Given the description of an element on the screen output the (x, y) to click on. 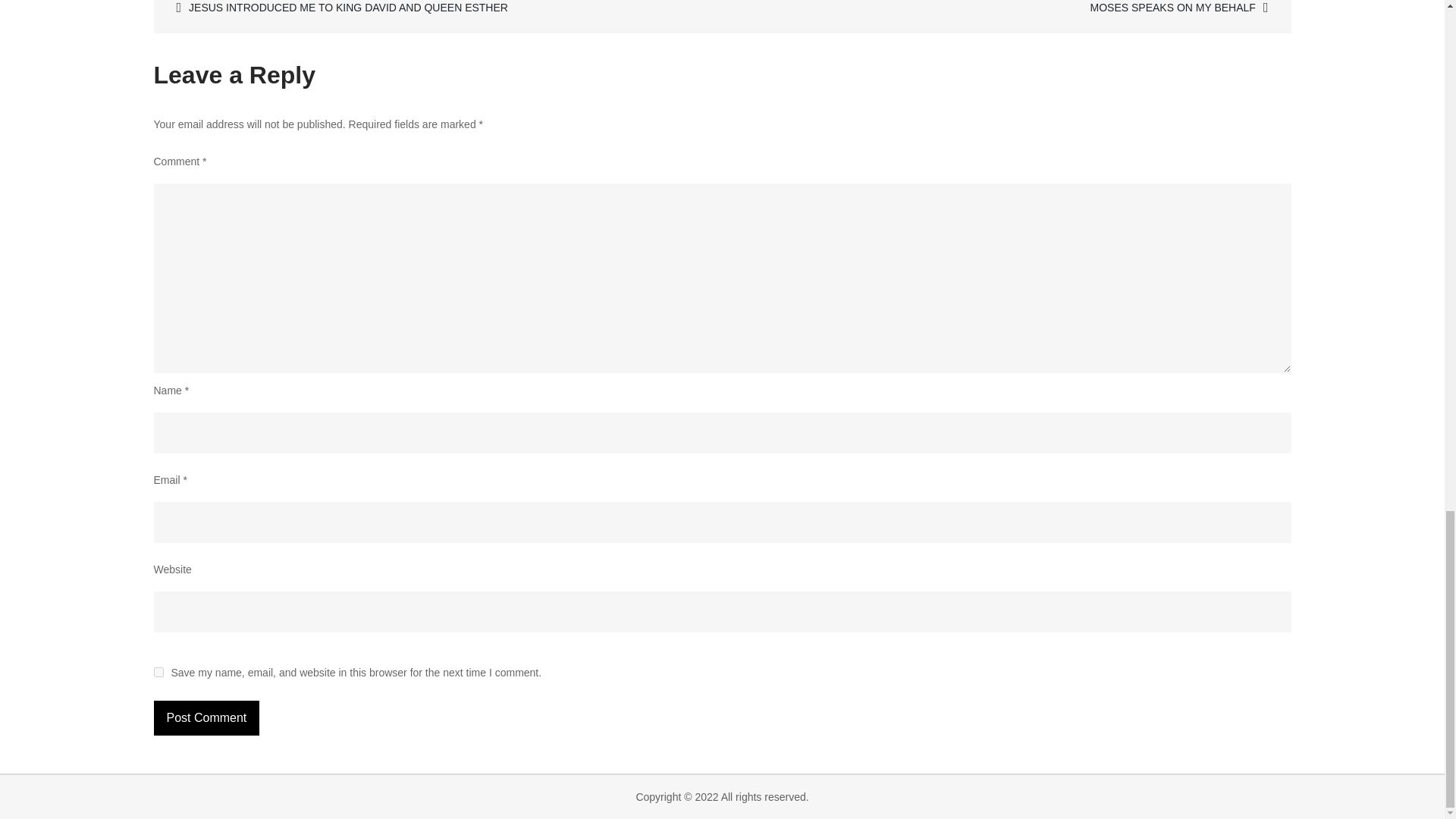
Post Comment (205, 718)
MOSES SPEAKS ON MY BEHALF (1004, 9)
JESUS INTRODUCED ME TO KING DAVID AND QUEEN ESTHER (439, 9)
Post Comment (205, 718)
yes (157, 672)
